Given the description of an element on the screen output the (x, y) to click on. 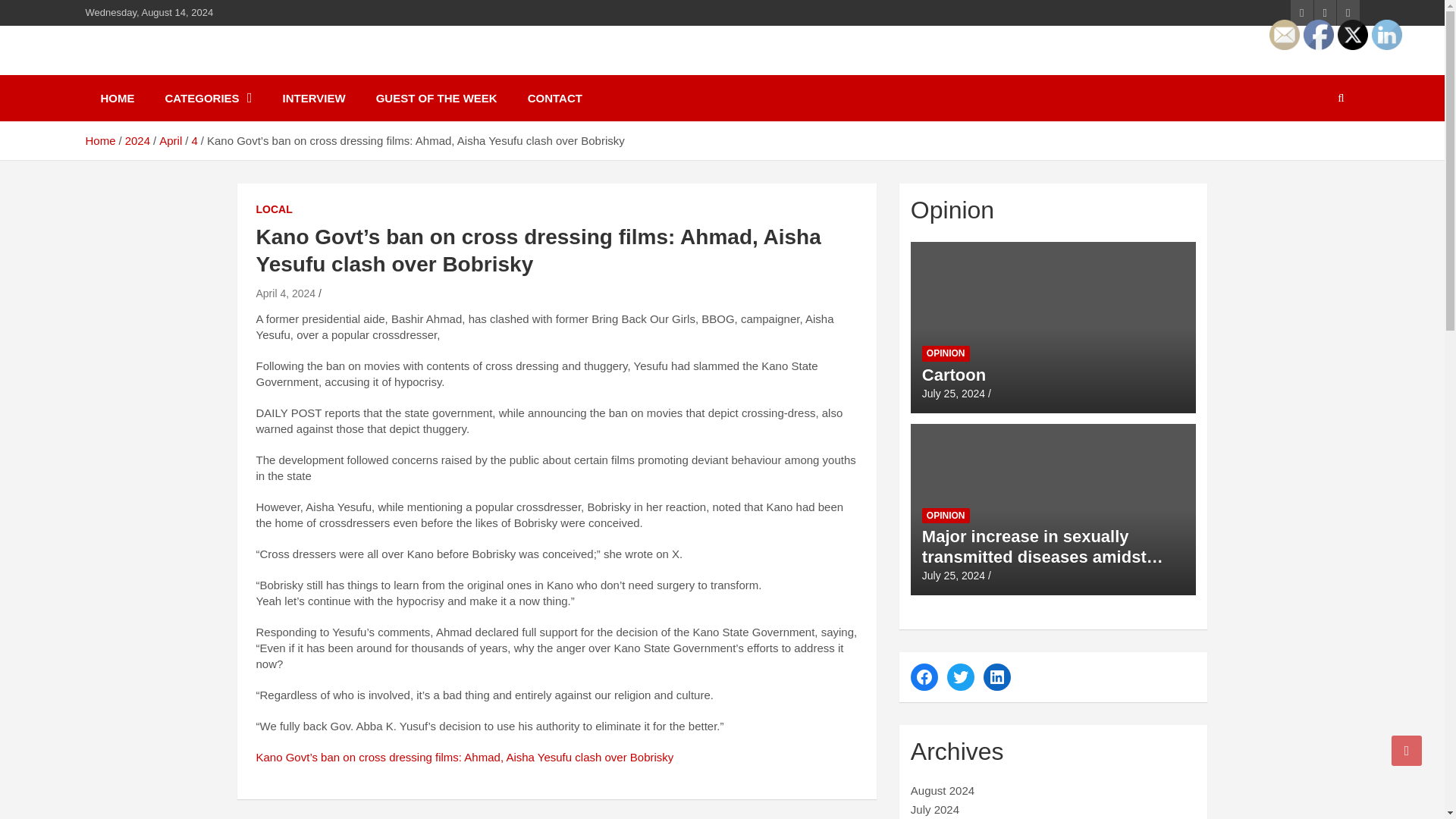
OPINION (945, 353)
April (170, 140)
CONTACT (554, 98)
Cartoon (953, 393)
Newsdaily (158, 68)
OPINION (945, 515)
HOME (116, 98)
2024 (137, 140)
Go to Top (1406, 750)
